Given the description of an element on the screen output the (x, y) to click on. 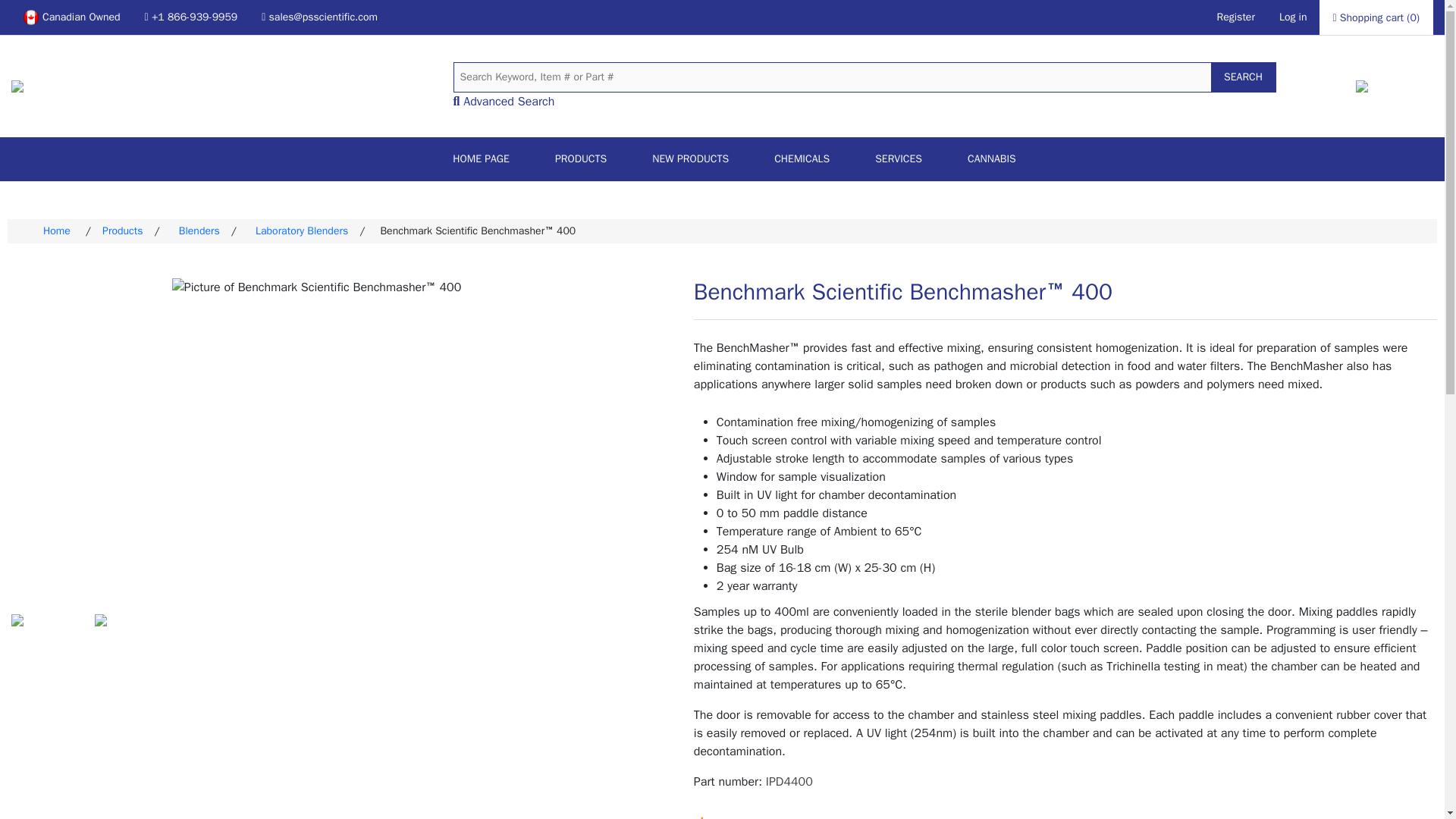
Register (1236, 17)
HOME PAGE (480, 158)
CANNABIS (991, 158)
SERVICES (898, 158)
SEARCH (1242, 77)
Log in (1293, 17)
PRODUCTS (580, 158)
Advanced Search (508, 101)
CHEMICALS (802, 158)
NEW PRODUCTS (690, 158)
